Given the description of an element on the screen output the (x, y) to click on. 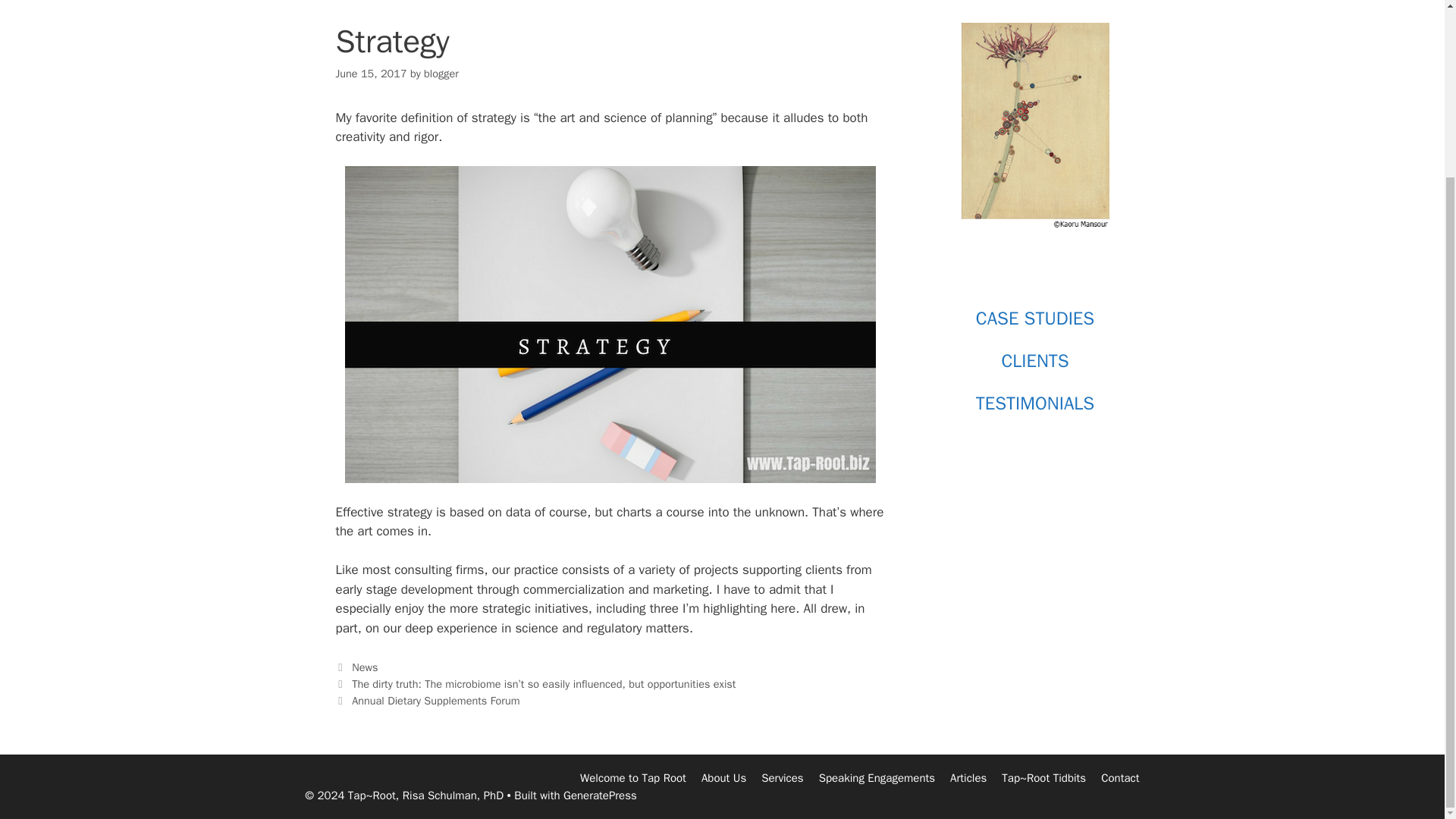
Contact (1119, 777)
Welcome to Tap Root (632, 777)
Annual Dietary Supplements Forum (435, 700)
CASE STUDIES (1034, 318)
Speaking Engagements (876, 777)
Articles (968, 777)
TESTIMONIALS (1034, 403)
View all posts by blogger (440, 73)
About Us (723, 777)
CLIENTS (1034, 360)
blogger (440, 73)
News (364, 667)
Services (782, 777)
GeneratePress (600, 795)
